Given the description of an element on the screen output the (x, y) to click on. 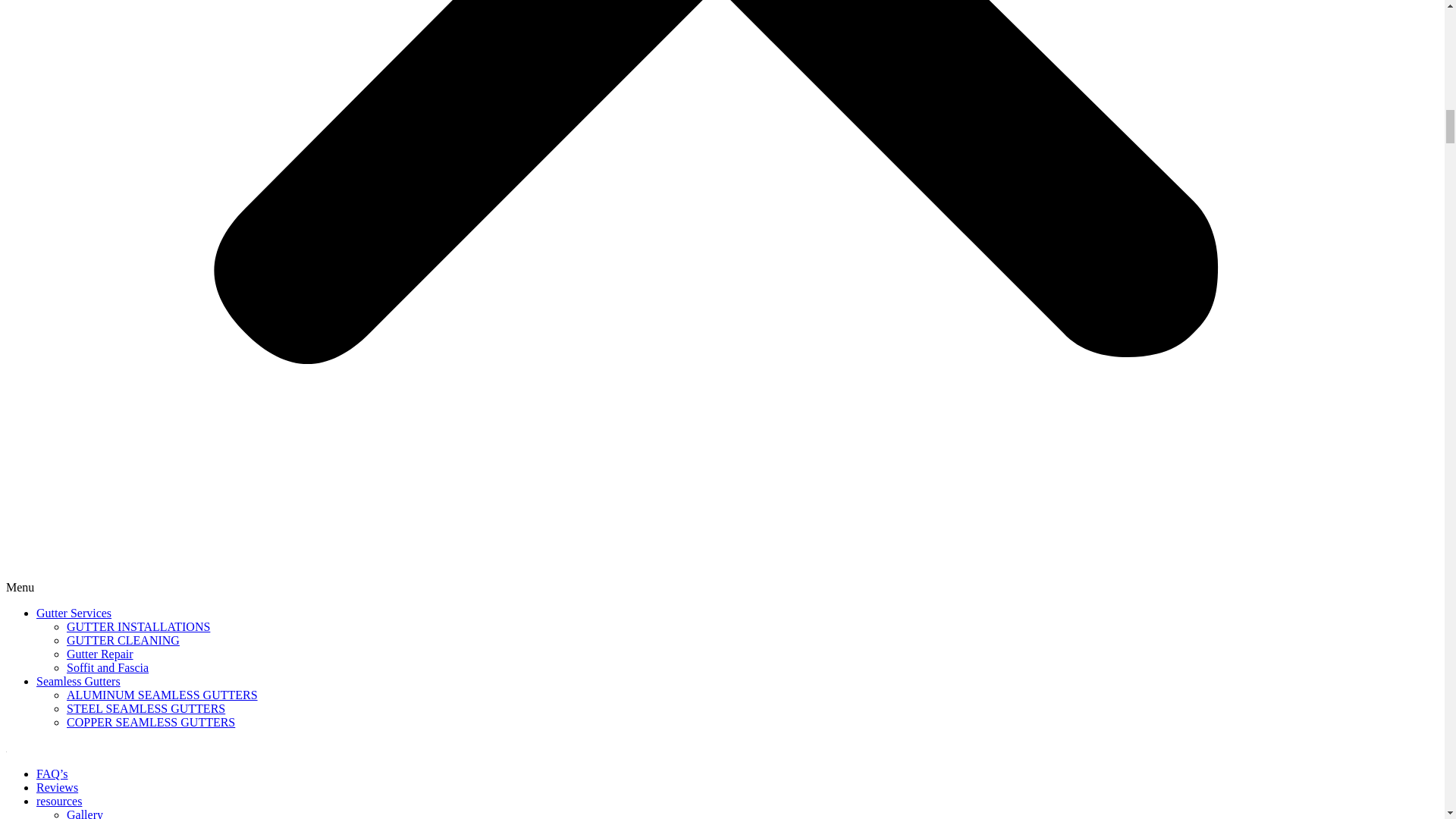
Gallery (84, 813)
resources (58, 800)
ALUMINUM SEAMLESS GUTTERS (161, 694)
COPPER SEAMLESS GUTTERS (150, 721)
Gutter Repair (99, 653)
GUTTER CLEANING (122, 640)
STEEL SEAMLESS GUTTERS (145, 707)
Gutter Services (74, 612)
Seamless Gutters (78, 680)
Soffit and Fascia (107, 667)
Reviews (57, 787)
GUTTER INSTALLATIONS (137, 626)
